Given the description of an element on the screen output the (x, y) to click on. 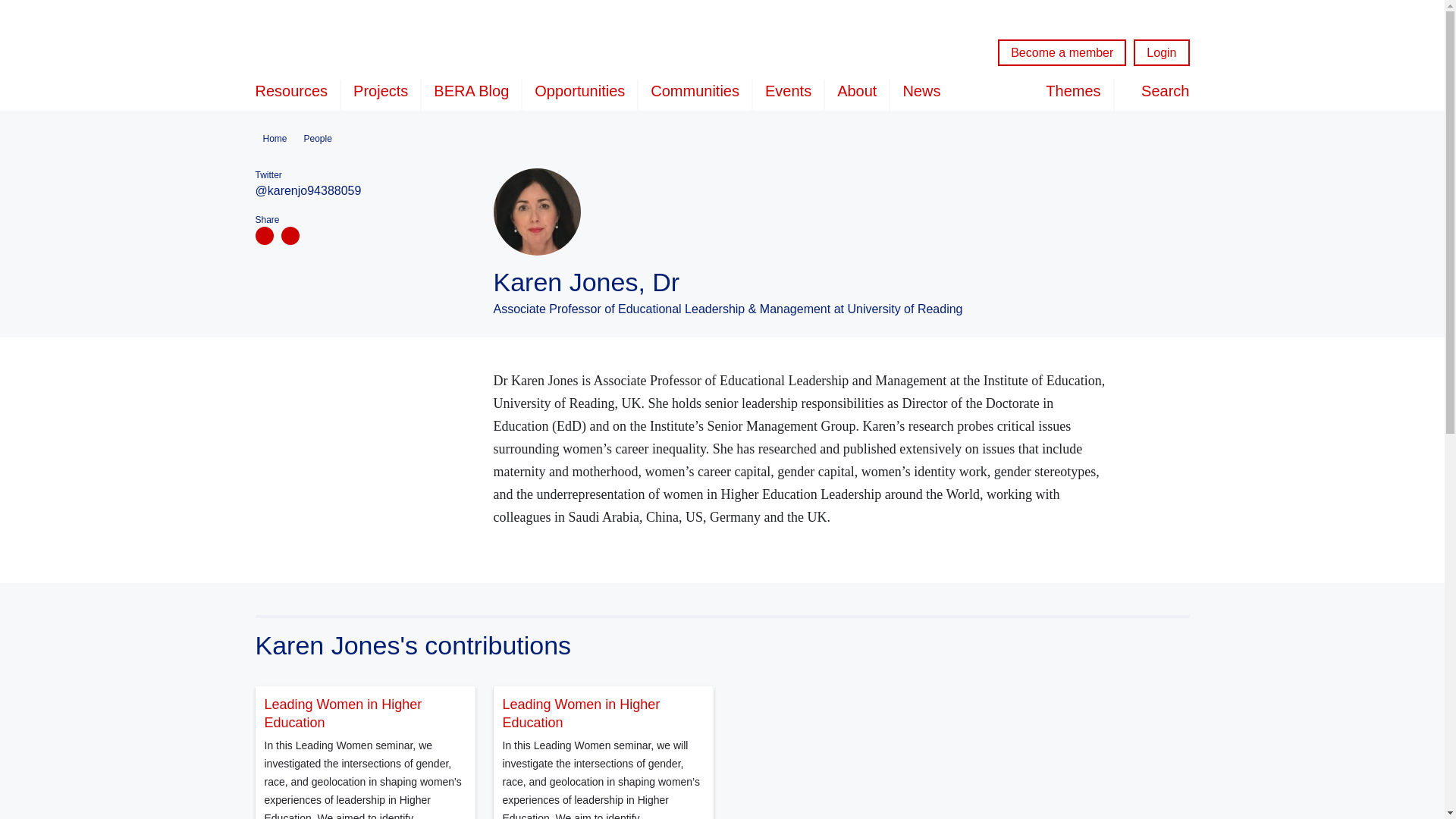
Share on Twitter (289, 235)
BERA Blog (471, 94)
Communities (695, 94)
Become a member (1061, 52)
Leading Women in Higher Education (364, 713)
Leading Women in Higher Education (602, 713)
Opportunities (579, 94)
Resources (296, 94)
Projects (380, 94)
Share on Facebook (263, 235)
